Given the description of an element on the screen output the (x, y) to click on. 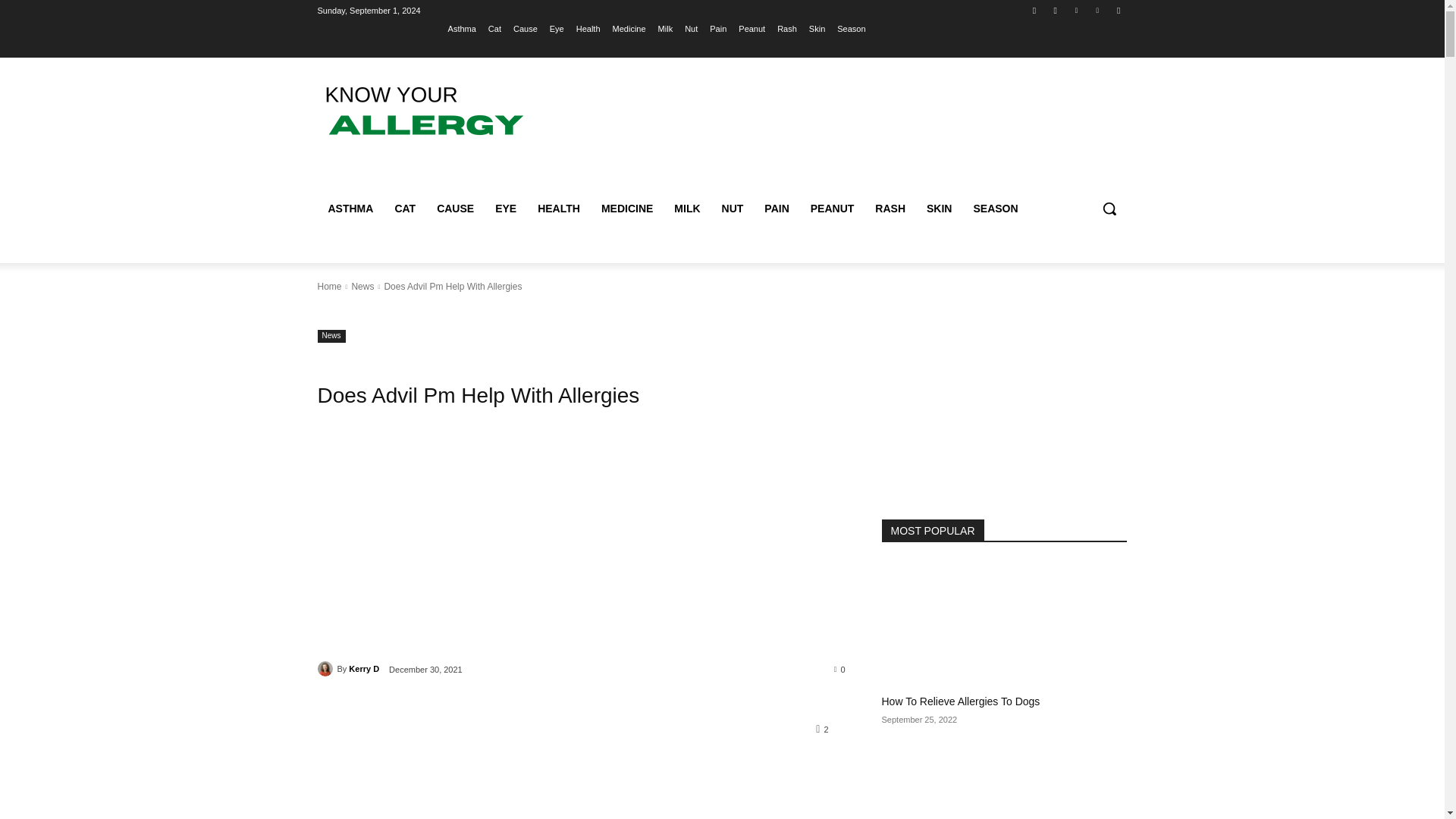
Vimeo (1097, 9)
Cause (525, 28)
Medicine (629, 28)
Peanut (751, 28)
View all posts in News (362, 286)
Kerry D (326, 668)
Youtube (1117, 9)
Health (587, 28)
Rash (786, 28)
Instagram (1055, 9)
